Given the description of an element on the screen output the (x, y) to click on. 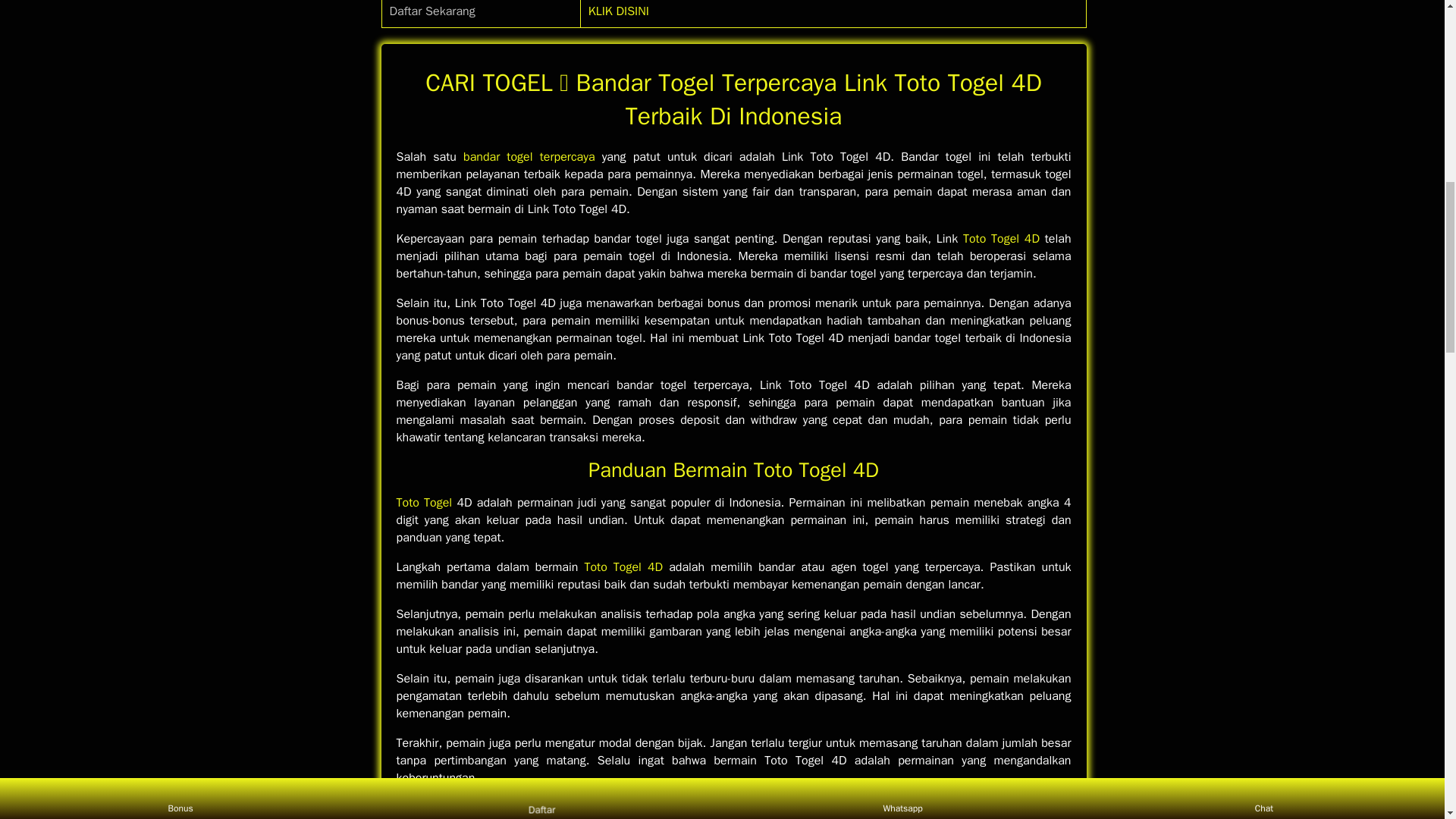
Toto Togel 4D (622, 566)
Toto Togel 4D (1000, 238)
Toto Togel (423, 502)
bandar togel terpercaya (529, 156)
KLIK DISINI (618, 11)
